Given the description of an element on the screen output the (x, y) to click on. 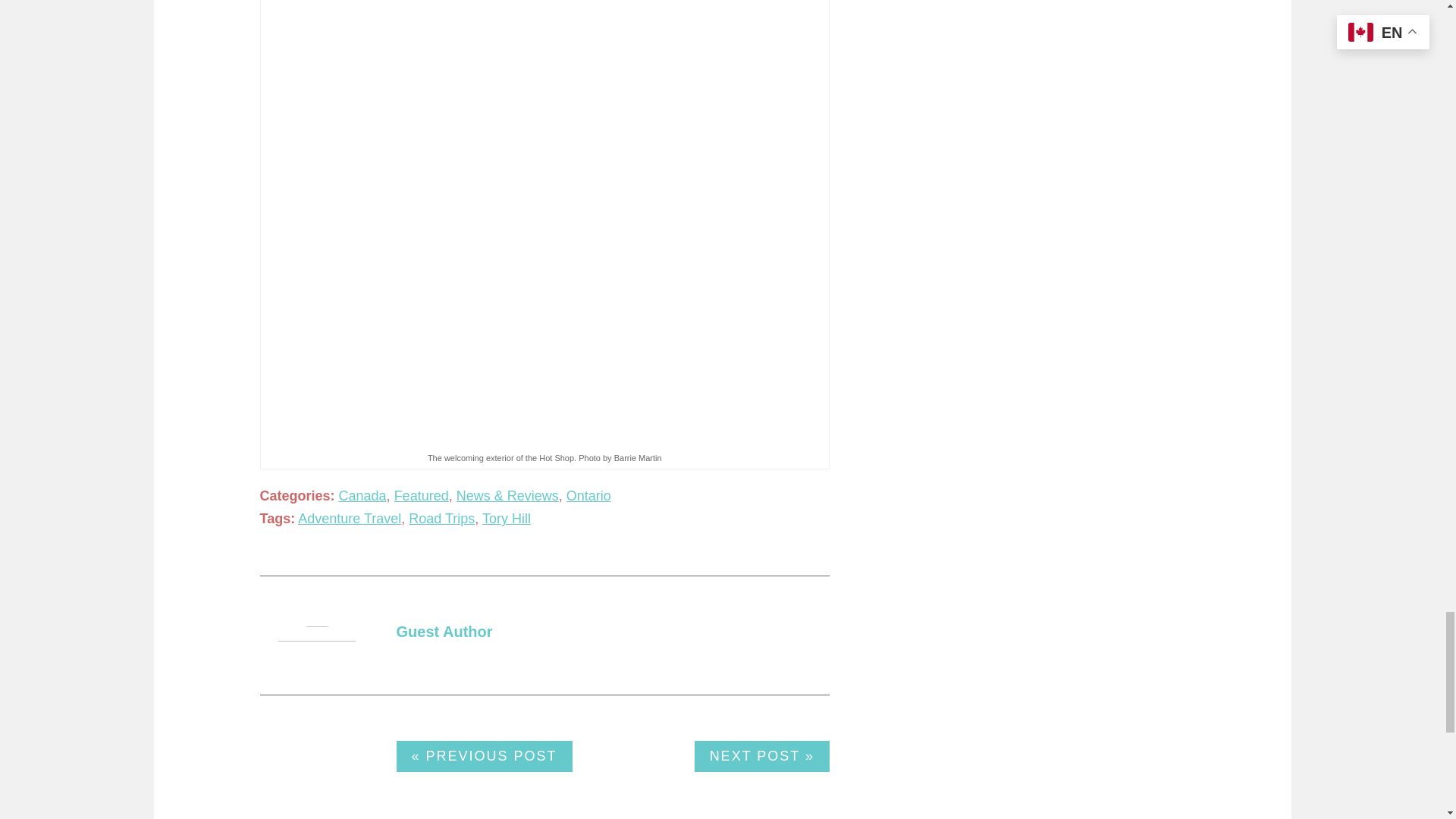
Posts by Guest Author (444, 631)
